Given the description of an element on the screen output the (x, y) to click on. 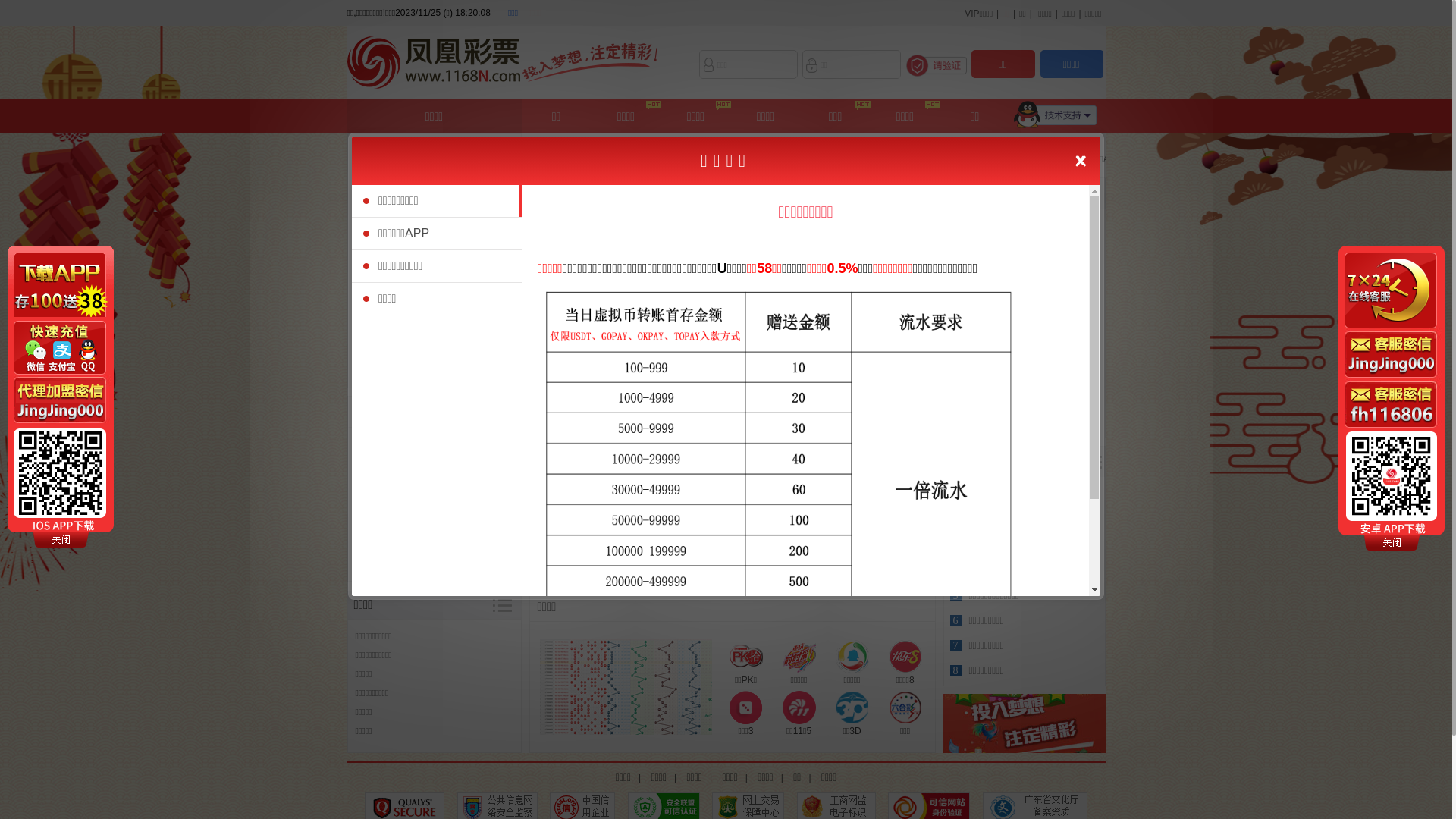
1 Element type: text (954, 495)
  Element type: text (369, 369)
  Element type: text (369, 153)
2 Element type: text (954, 520)
  Element type: text (369, 283)
3 Element type: text (954, 545)
7 Element type: text (954, 645)
4 Element type: text (954, 570)
8 Element type: text (954, 670)
  Element type: text (369, 326)
+ Element type: text (589, 555)
- Element type: text (547, 555)
  Element type: text (369, 240)
  Element type: text (369, 196)
6 Element type: text (954, 620)
5 Element type: text (954, 595)
